Given the description of an element on the screen output the (x, y) to click on. 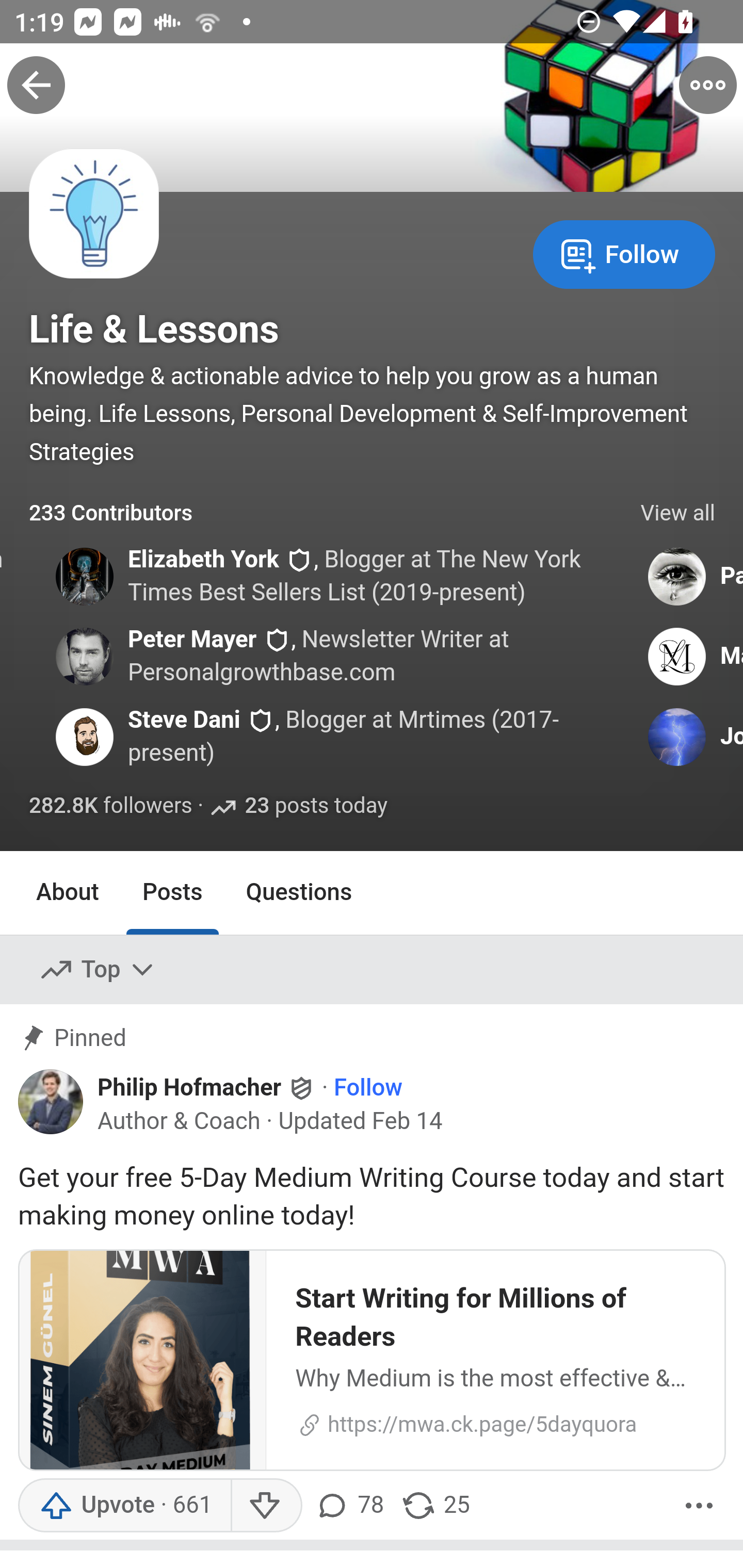
Follow (623, 252)
Life & Lessons (153, 329)
View all (677, 513)
Elizabeth York (202, 559)
Profile photo for Elizabeth York (83, 576)
Profile photo for Paris Weller (675, 576)
Peter Mayer (191, 640)
Profile photo for Peter Mayer (83, 655)
Profile photo for Madison Lee (675, 655)
Steve Dani (184, 720)
Profile photo for Steve Dani (83, 736)
Profile photo for Joshua Takara (675, 736)
About (68, 891)
Posts (171, 891)
Questions (299, 891)
Top (97, 970)
Profile photo for Philip Hofmacher (50, 1102)
Philip Hofmacher Philip Hofmacher   (207, 1087)
Follow (368, 1087)
Upvote (124, 1506)
Downvote (266, 1506)
78 comments (352, 1506)
25 shares (434, 1506)
More (699, 1506)
